Given the description of an element on the screen output the (x, y) to click on. 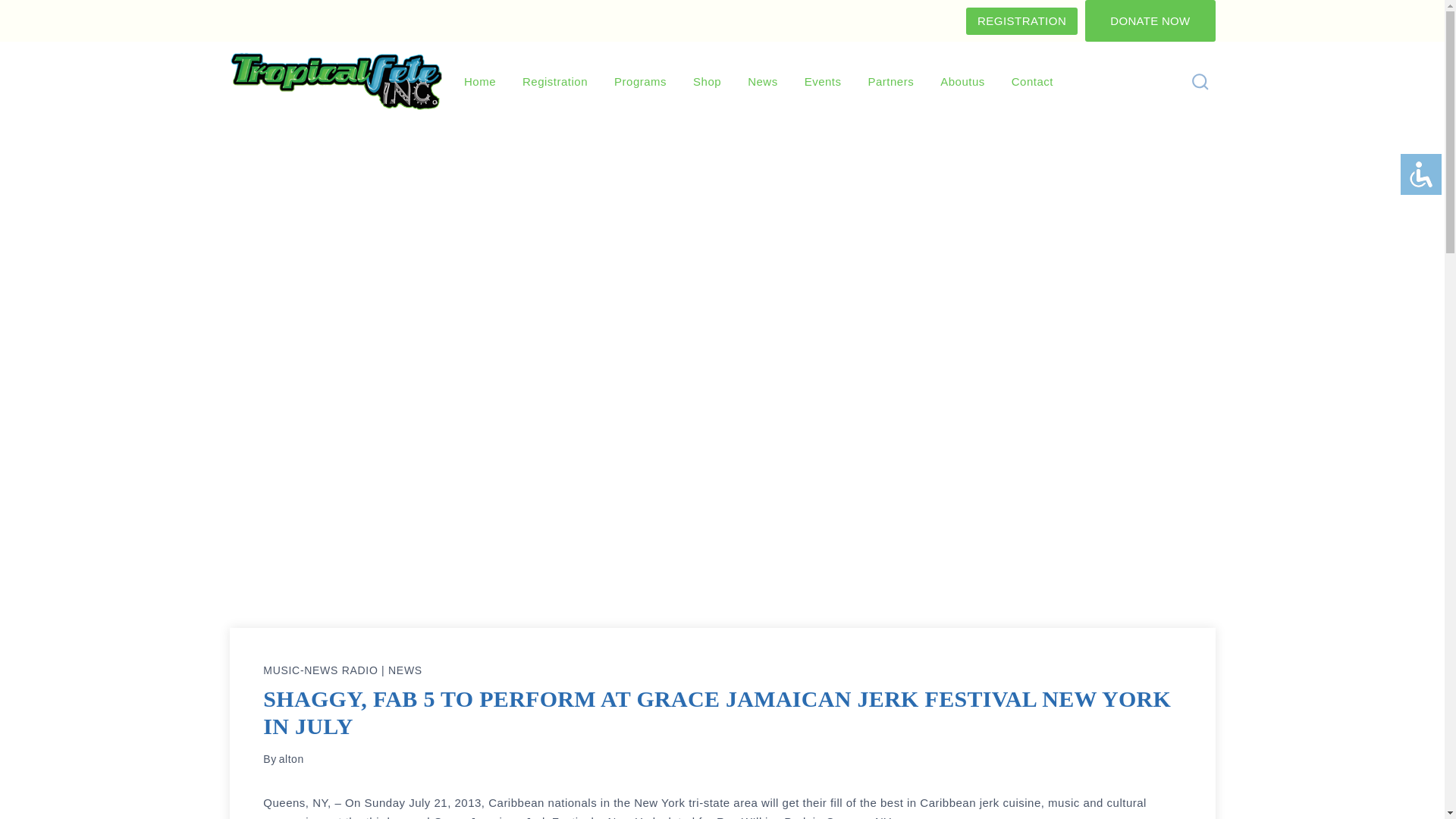
DONATE NOW (1149, 20)
MUSIC-NEWS RADIO (320, 670)
NEWS (405, 670)
REGISTRATION (1021, 21)
alton (291, 758)
Programs (640, 81)
Registration (555, 81)
Partners (890, 81)
